Given the description of an element on the screen output the (x, y) to click on. 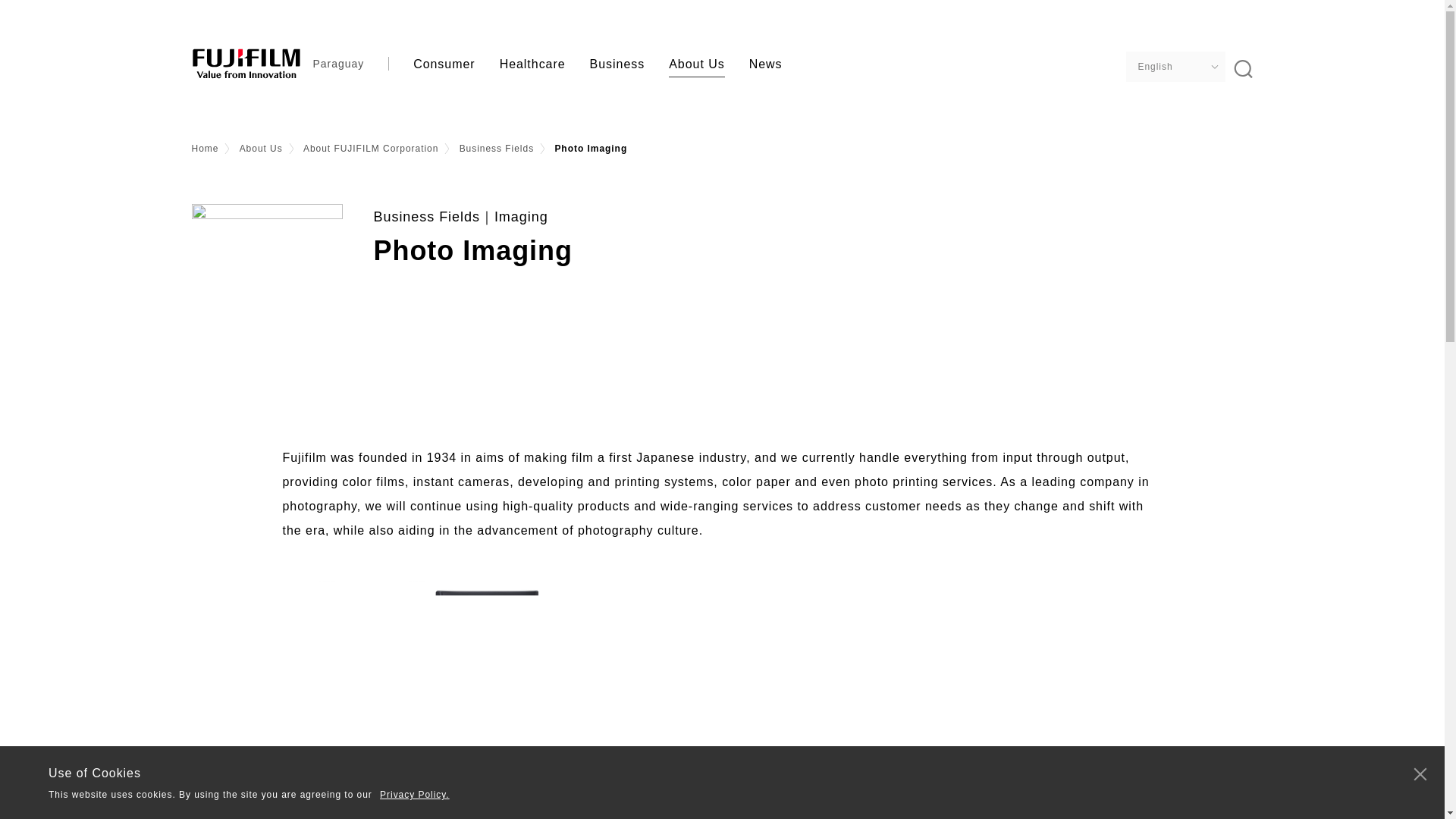
Home (204, 148)
Healthcare (532, 63)
News (765, 63)
Privacy Policy. (414, 794)
Business (618, 63)
About Us (696, 63)
Consumer (444, 63)
